Given the description of an element on the screen output the (x, y) to click on. 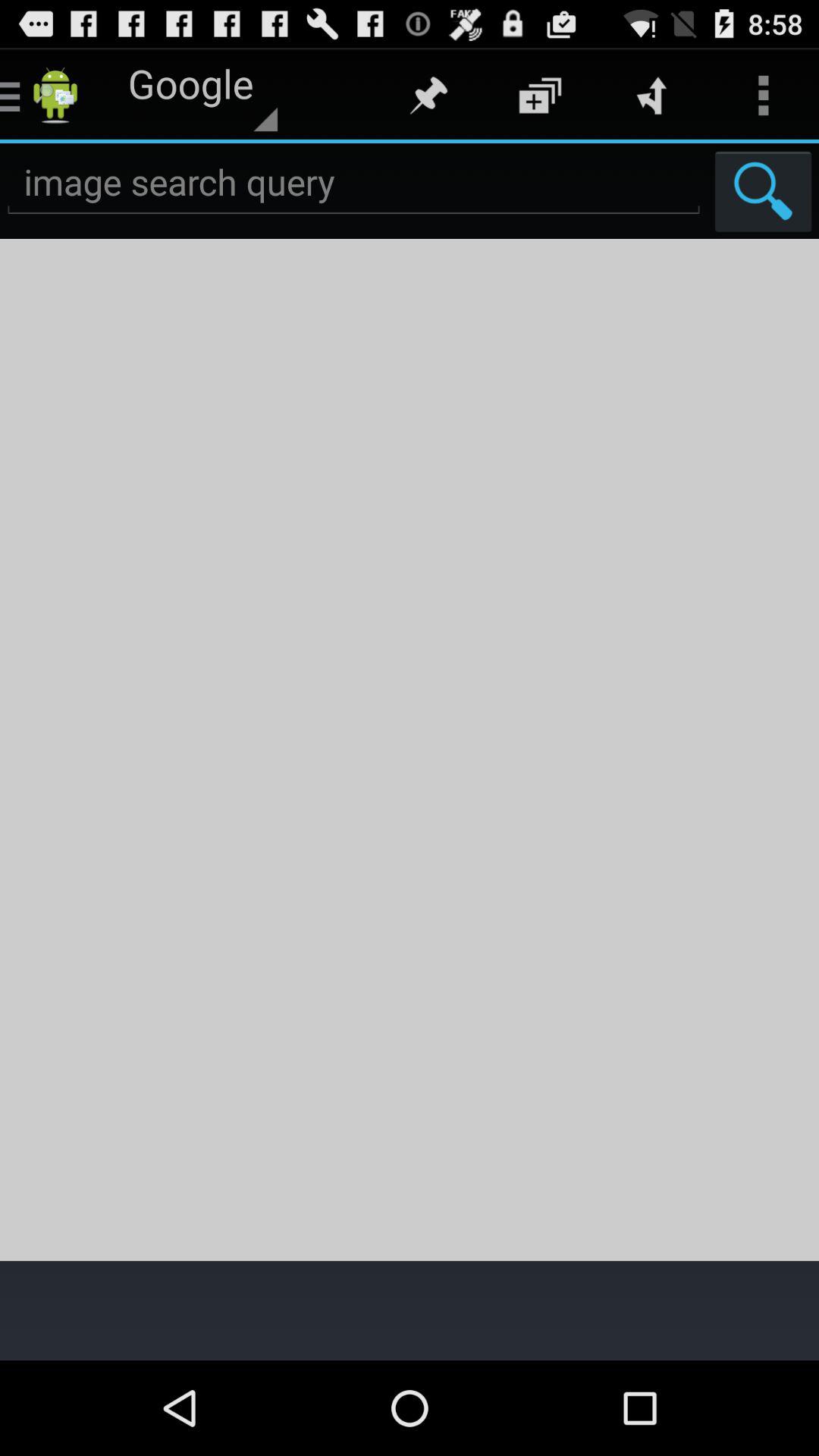
search option (353, 182)
